Given the description of an element on the screen output the (x, y) to click on. 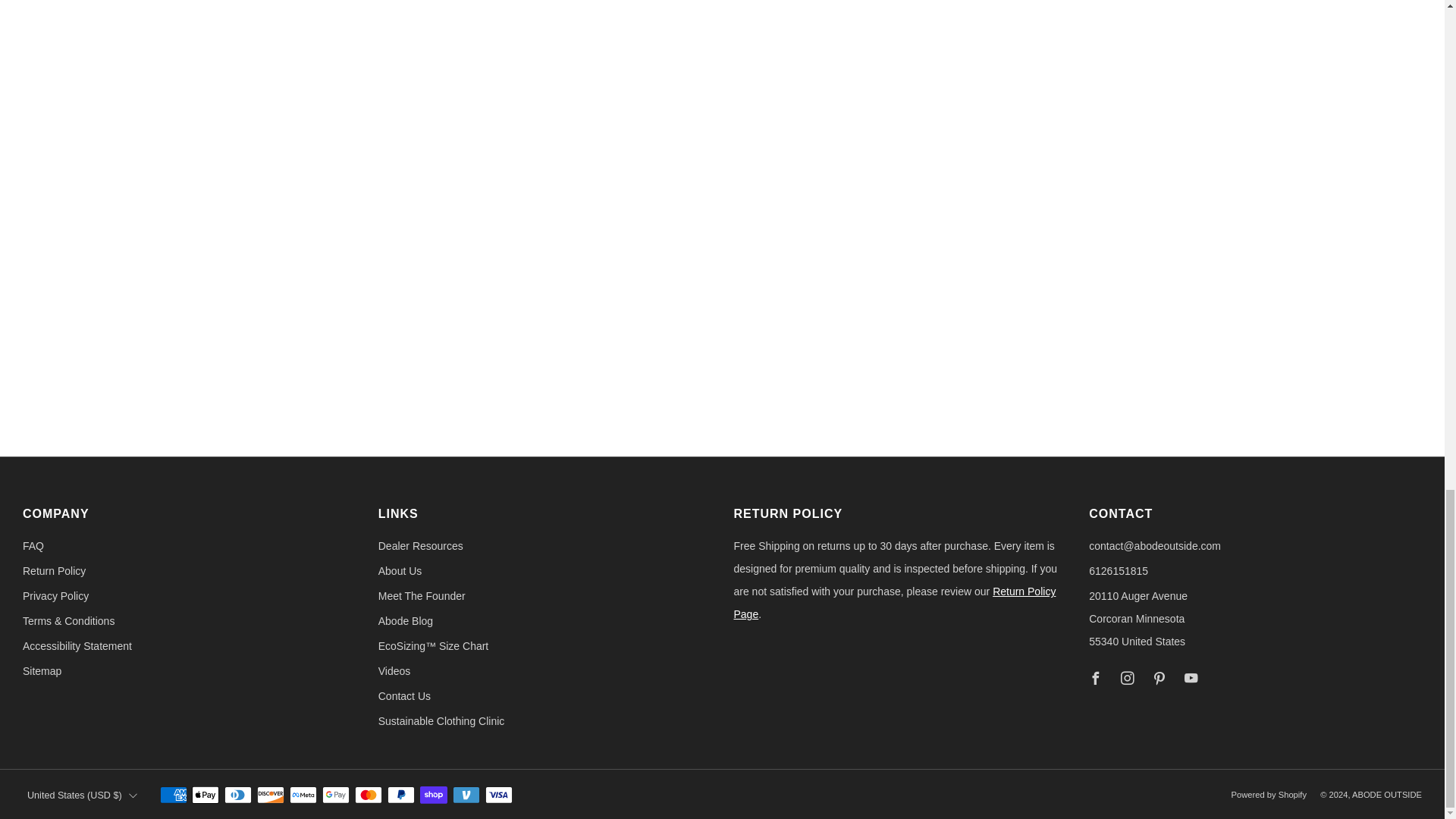
Venmo (466, 794)
PayPal (400, 794)
Apple Pay (205, 794)
RETURN POLICY (895, 602)
Visa (498, 794)
Meta Pay (303, 794)
Google Pay (335, 794)
Discover (270, 794)
American Express (173, 794)
Shop Pay (433, 794)
Mastercard (368, 794)
Diners Club (237, 794)
